Given the description of an element on the screen output the (x, y) to click on. 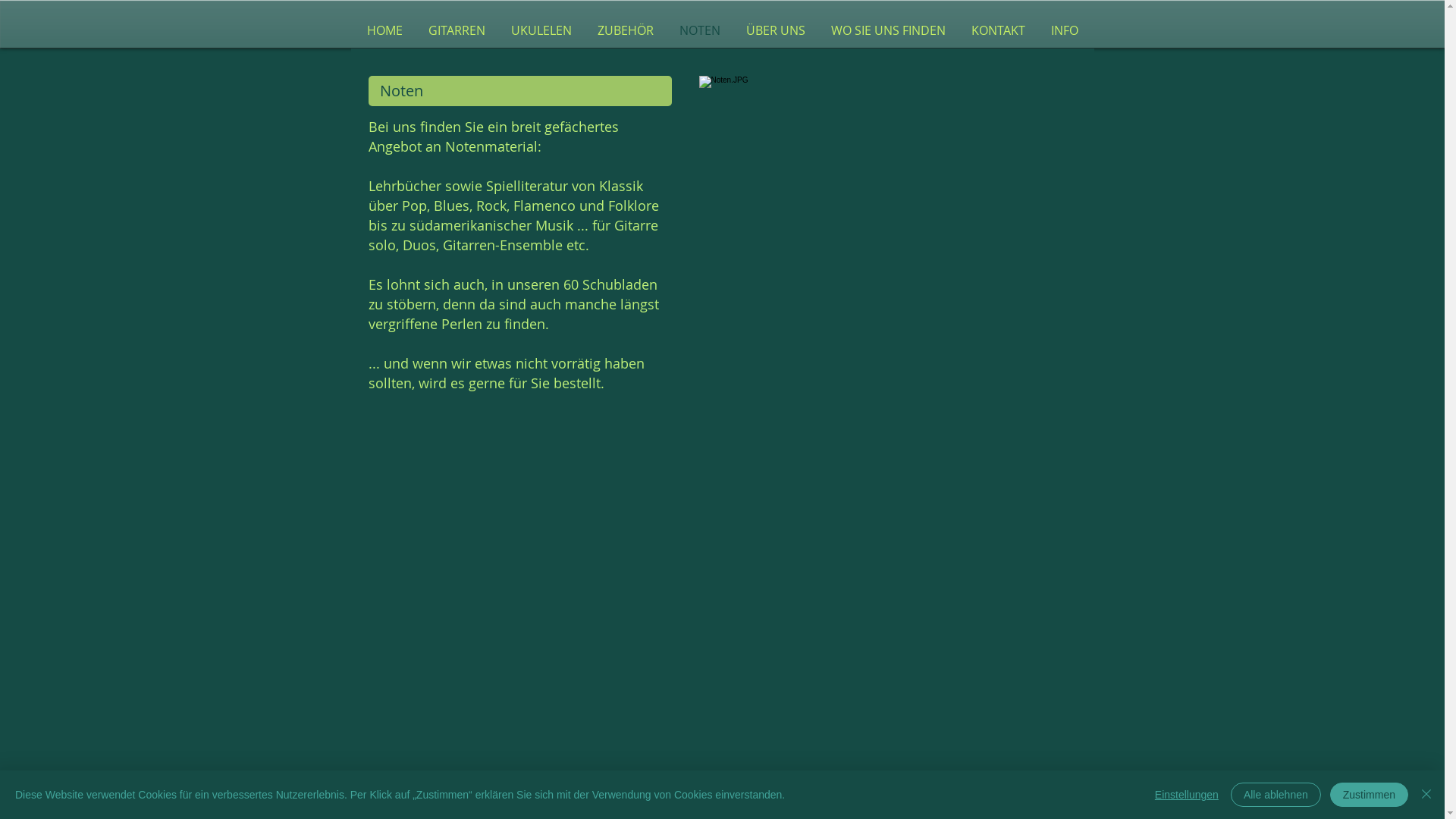
INFO Element type: text (1063, 30)
Alle ablehnen Element type: text (1275, 794)
UKULELEN Element type: text (540, 30)
KONTAKT Element type: text (998, 30)
GITARREN Element type: text (456, 30)
Zustimmen Element type: text (1369, 794)
WO SIE UNS FINDEN Element type: text (887, 30)
HOME Element type: text (383, 30)
NOTEN Element type: text (698, 30)
